Given the description of an element on the screen output the (x, y) to click on. 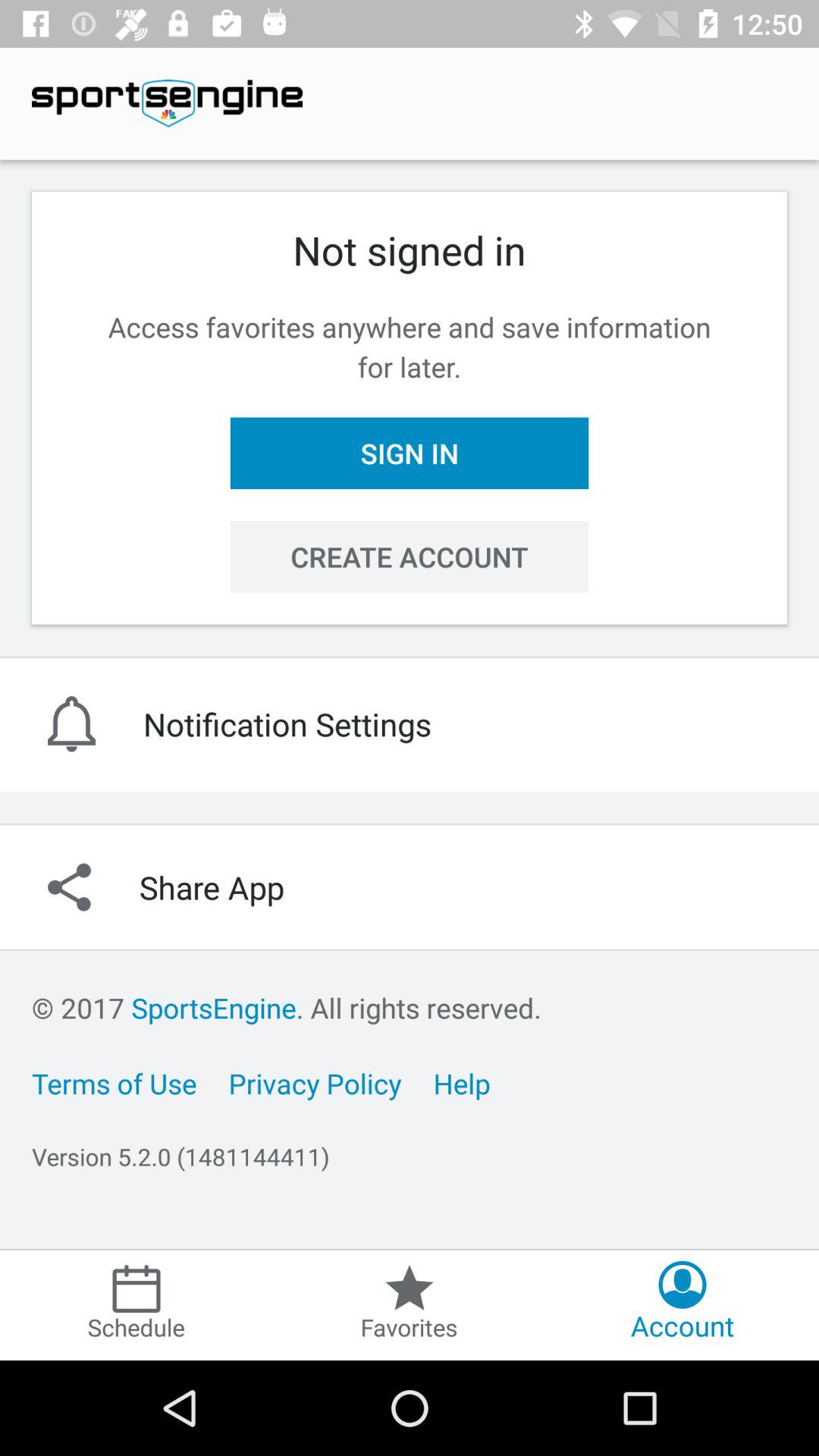
click icon to the left of the help (314, 1083)
